Given the description of an element on the screen output the (x, y) to click on. 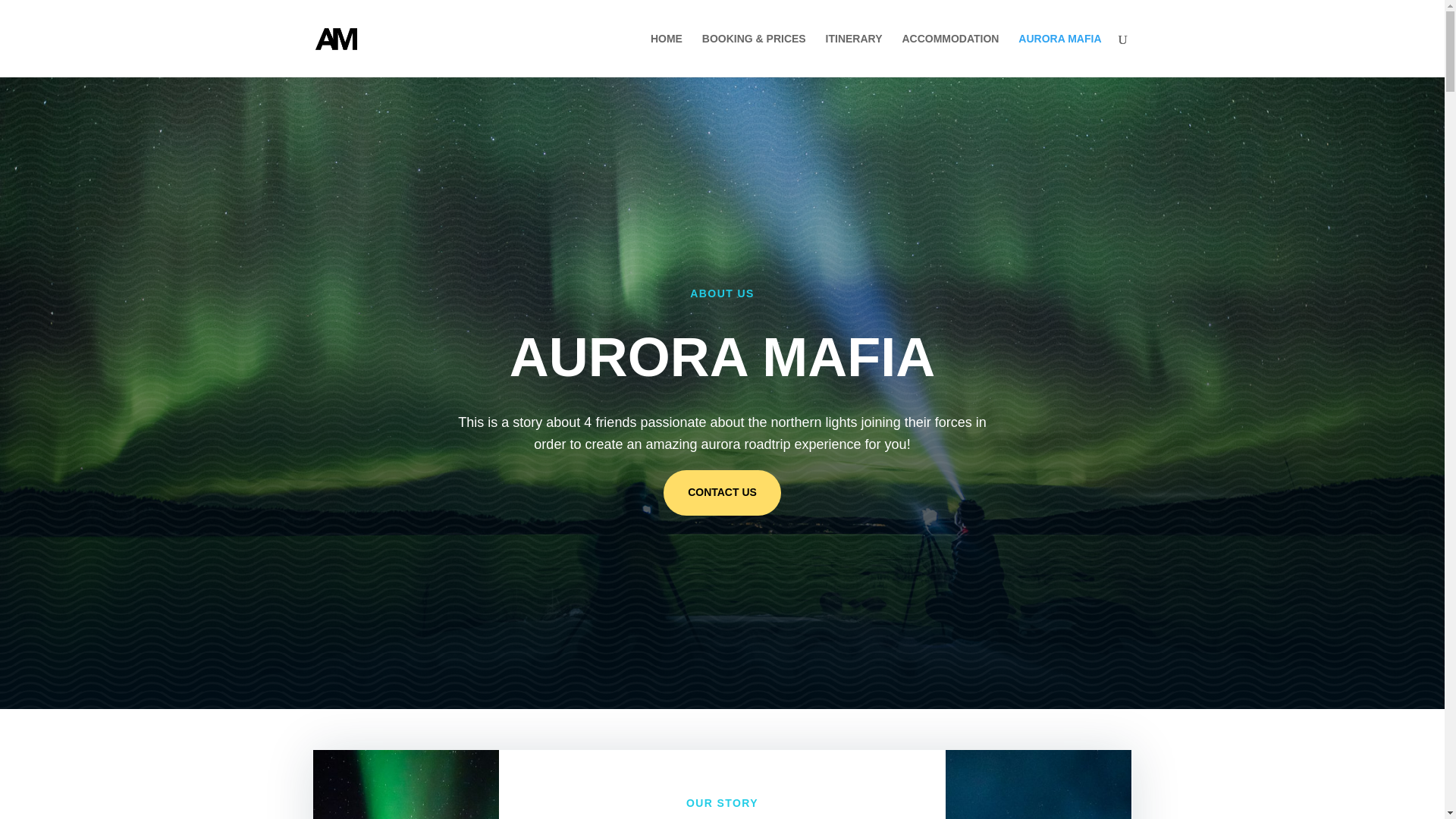
CONTACT US (721, 492)
ACCOMMODATION (949, 54)
AURORA MAFIA (1058, 54)
ITINERARY (853, 54)
